Given the description of an element on the screen output the (x, y) to click on. 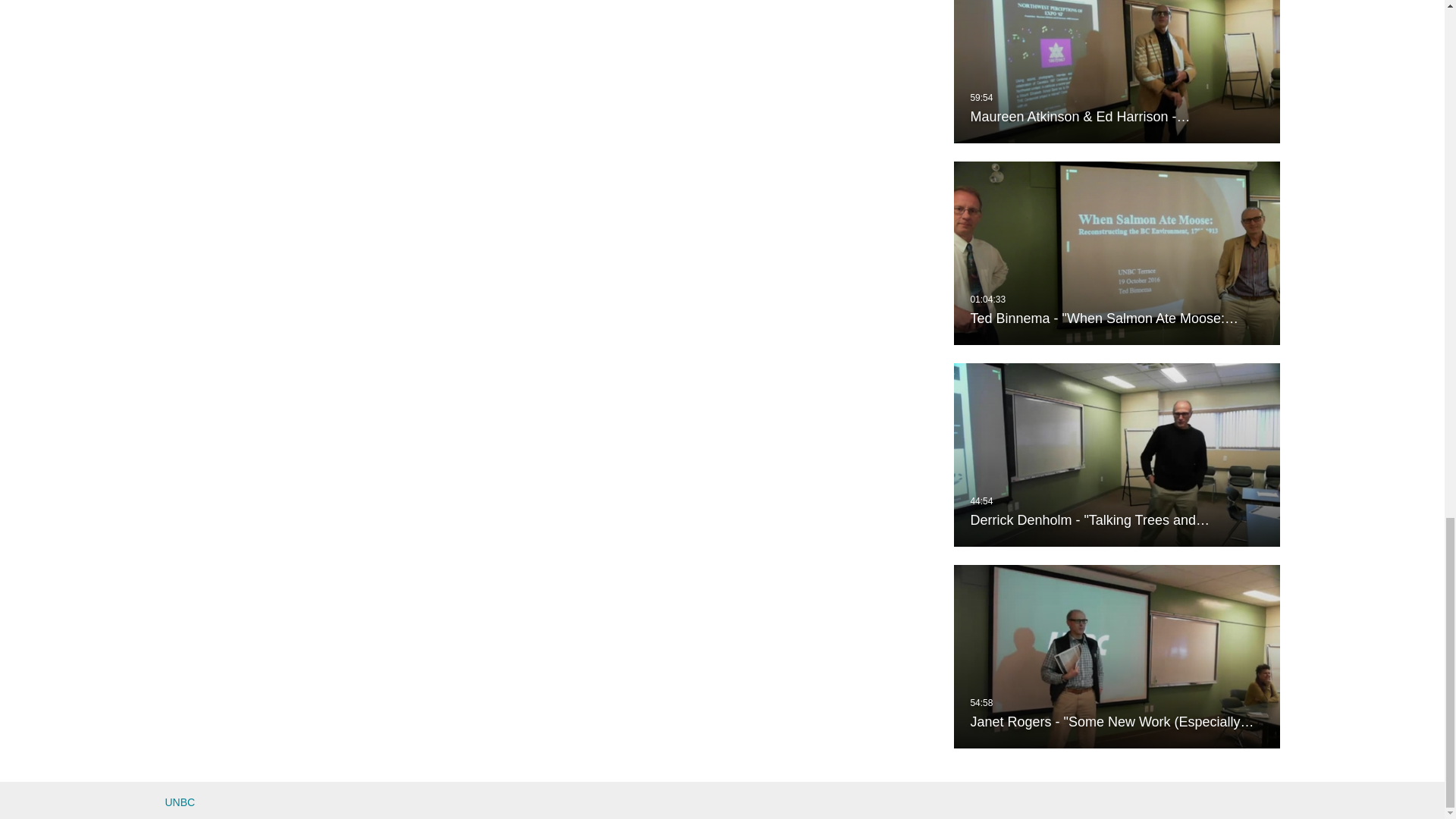
Derrick Denholm - "Talking Trees and Sentient Landscapes" (1116, 455)
